Given the description of an element on the screen output the (x, y) to click on. 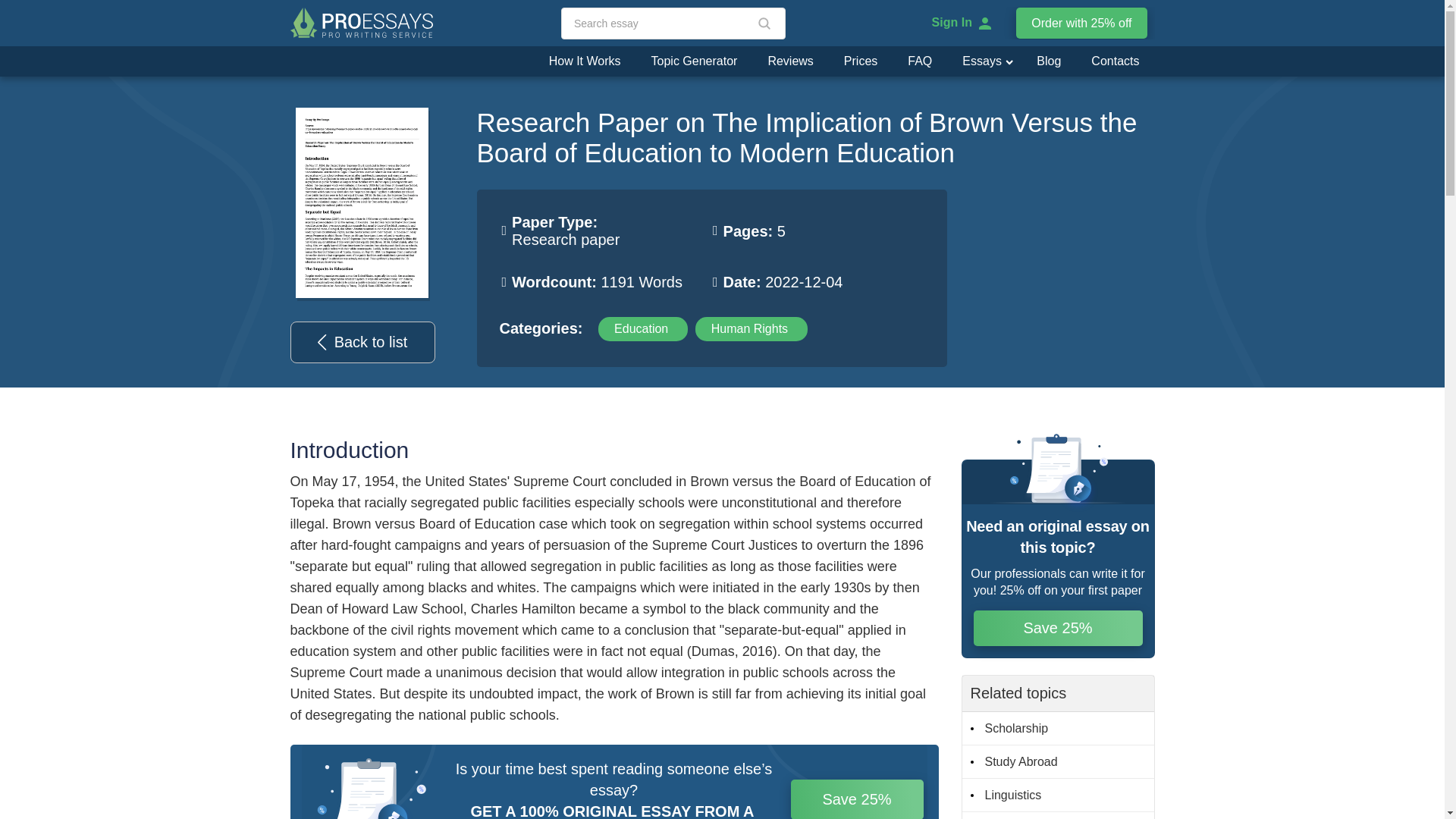
Contacts (1114, 60)
Topic Generator (694, 60)
FAQ (919, 60)
Blog (1048, 60)
How It Works (585, 60)
Essays (975, 60)
Prices (860, 60)
Reviews (790, 60)
